Given the description of an element on the screen output the (x, y) to click on. 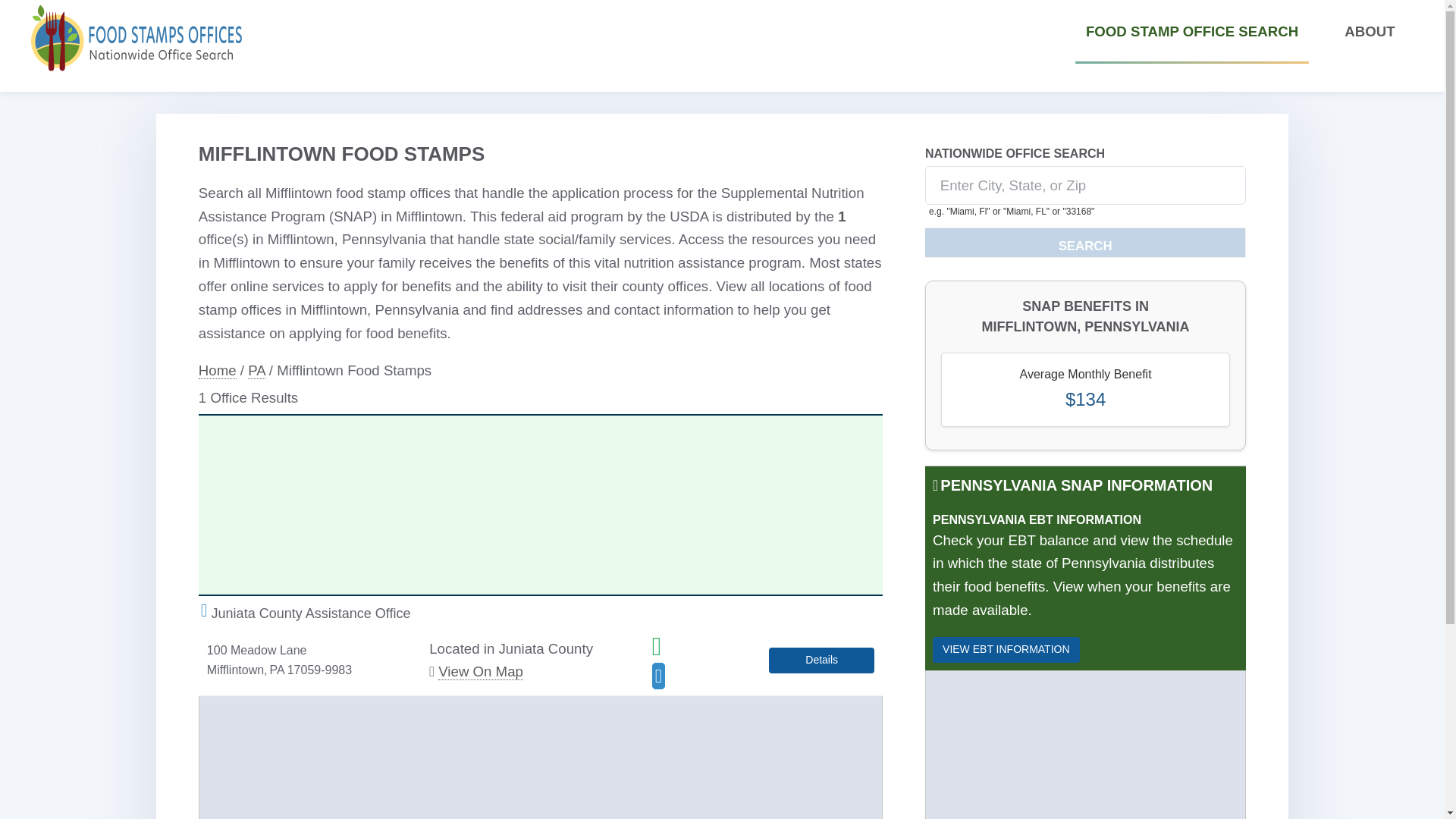
Pennsylvania Food Stamp Schedule (1006, 649)
Food Stamp Offices (216, 370)
FOOD STAMP OFFICE SEARCH (1191, 31)
Juniata County Assistance Office in Mifflintown PA (821, 660)
Pennsylvania Food Stamps (255, 370)
food stamps (136, 38)
